Given the description of an element on the screen output the (x, y) to click on. 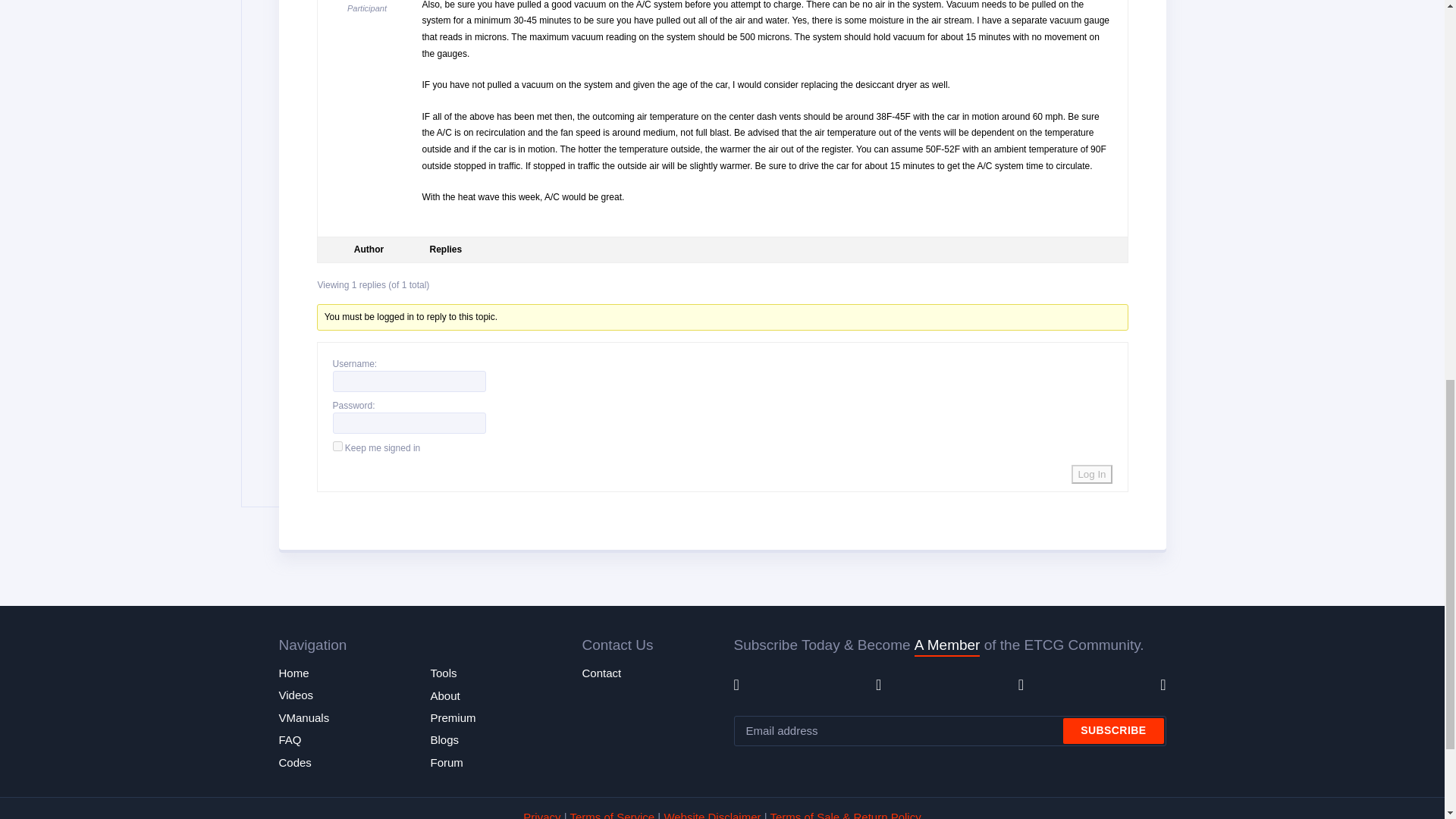
Log In (1091, 474)
forever (336, 446)
Home (293, 673)
Codes (295, 762)
FAQ (290, 739)
Keith Kachelhofer (366, 1)
View Keith Kachelhofer's profile (366, 1)
Videos (296, 694)
Subscribe (1112, 730)
Tools (443, 673)
